Given the description of an element on the screen output the (x, y) to click on. 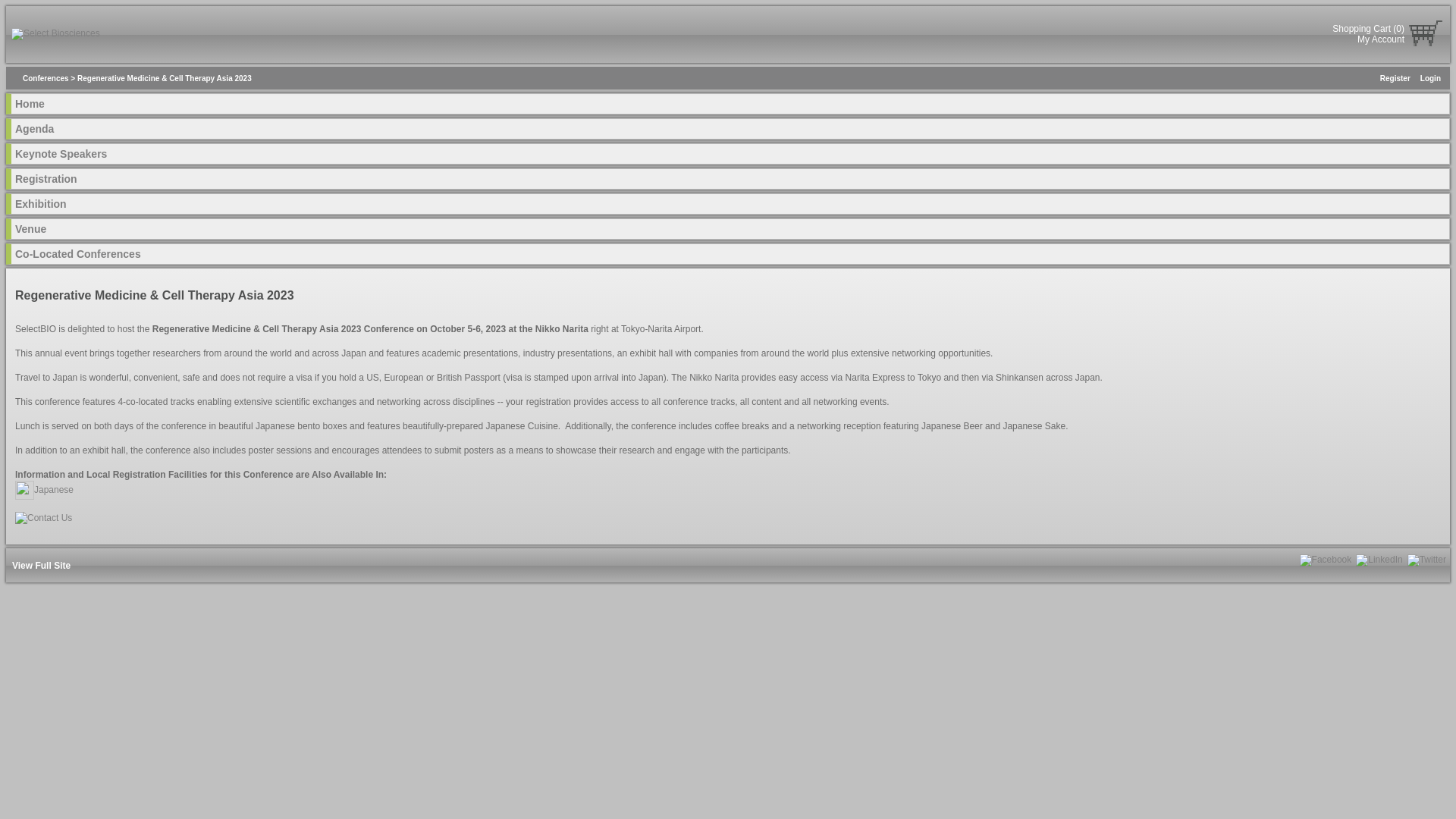
Japanese (44, 489)
Venue (30, 228)
Register (1395, 78)
Home (29, 103)
Conferences (45, 78)
View Full Site (40, 565)
Keynote Speakers (60, 153)
Registration (45, 178)
Login (1431, 78)
My Account (1380, 39)
